Given the description of an element on the screen output the (x, y) to click on. 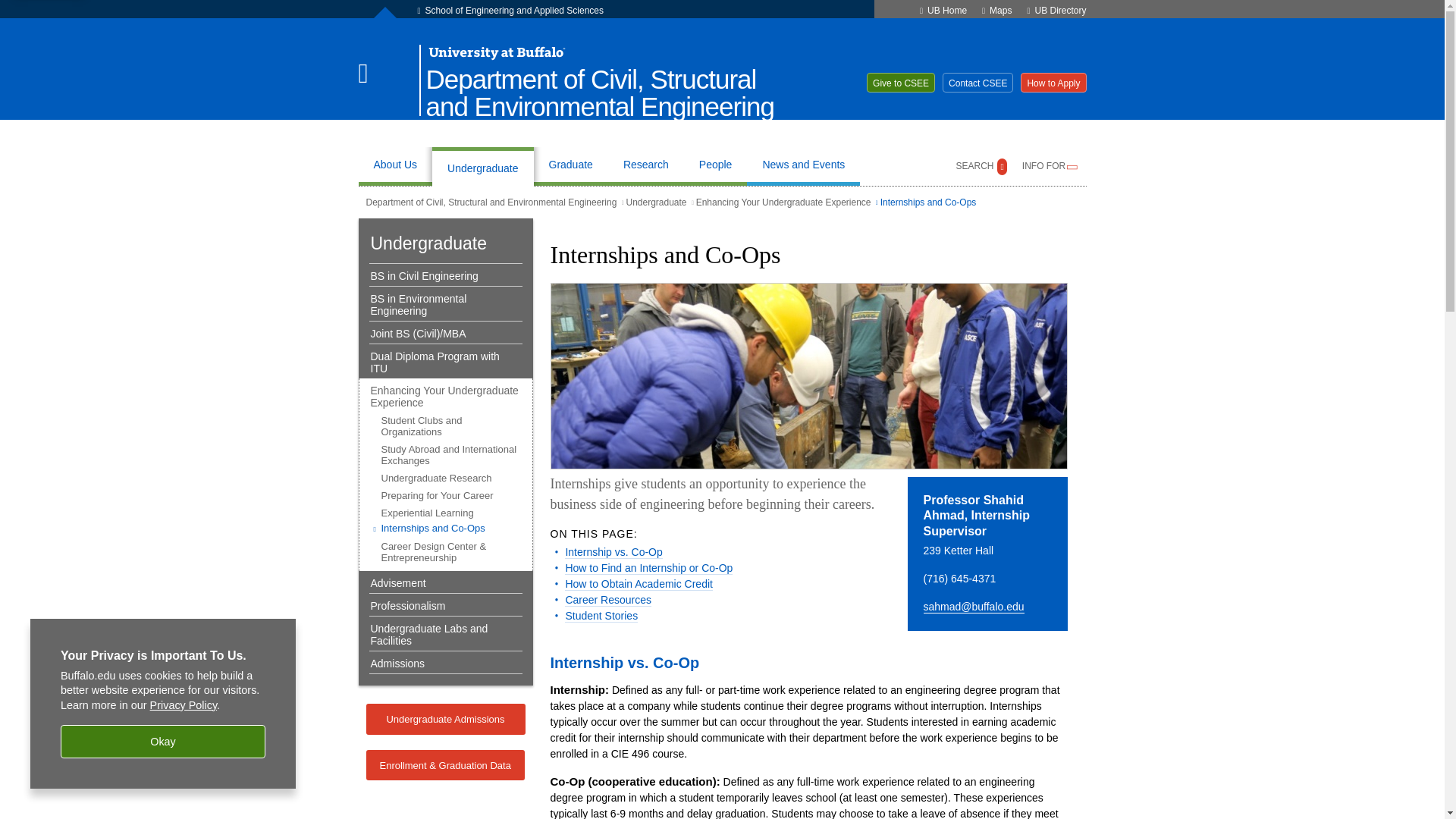
Undergraduate (482, 166)
About Us (394, 166)
Give to CSEE (900, 82)
Maps (1000, 9)
UB Directory (1059, 9)
How to Apply (1053, 82)
Graduate (570, 166)
UB Home (946, 9)
Contact CSEE (977, 82)
School of Engineering and Applied Sciences (514, 9)
